Given the description of an element on the screen output the (x, y) to click on. 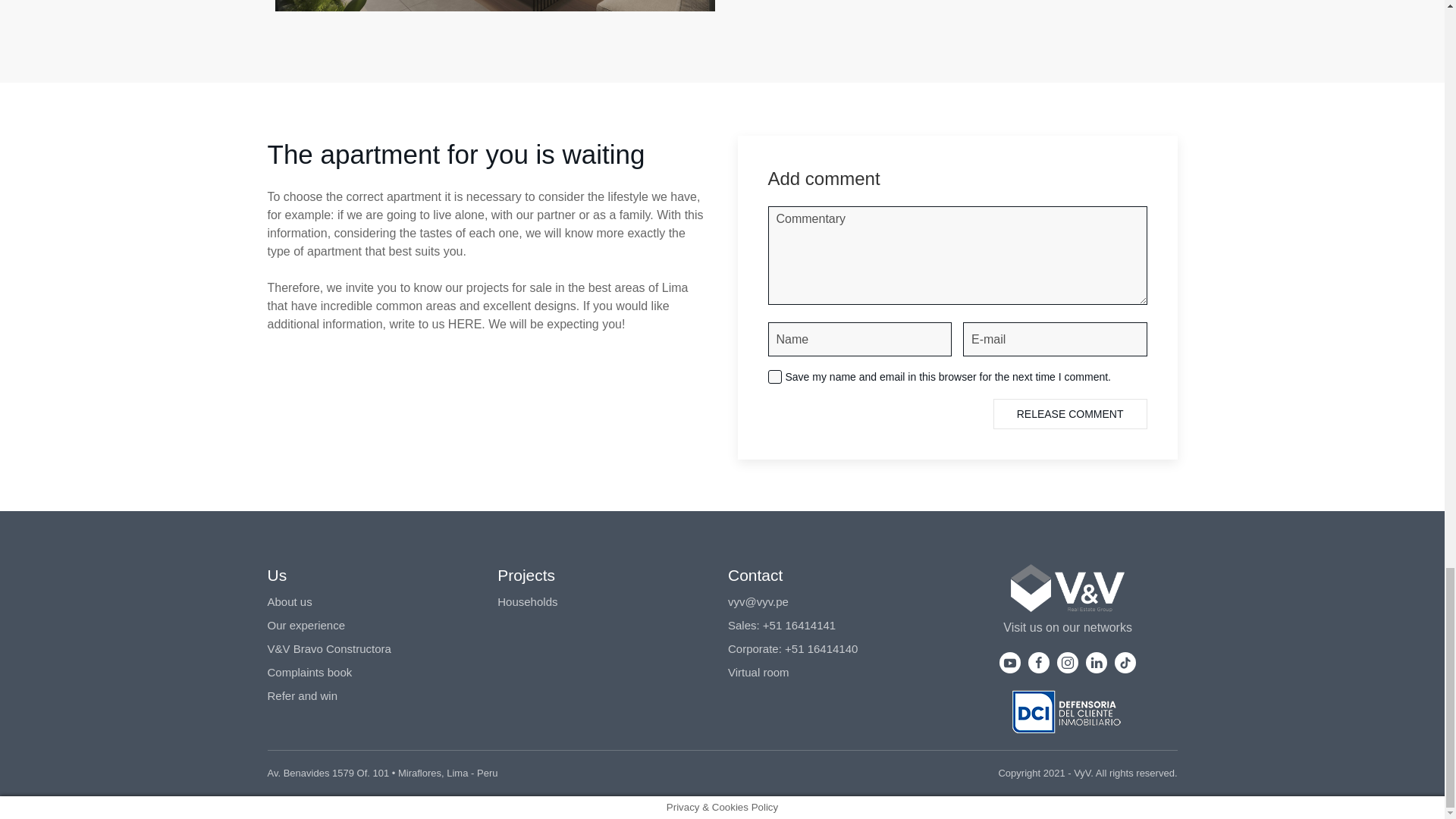
RELEASE COMMENT (1069, 413)
yes (773, 377)
